Given the description of an element on the screen output the (x, y) to click on. 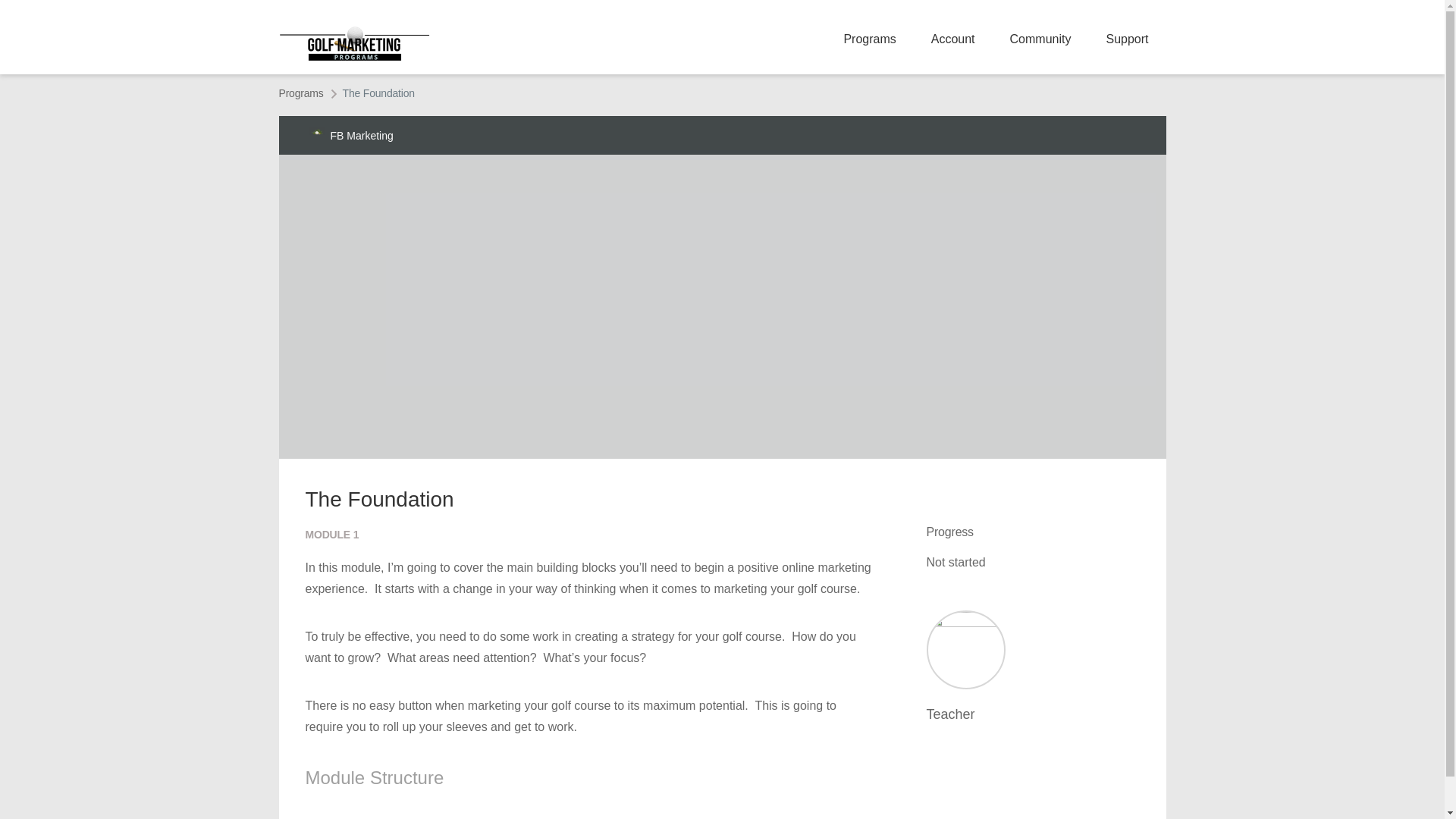
Programs (301, 92)
Account (953, 38)
Community (1040, 38)
Programs (869, 38)
Support (1126, 38)
The Foundation (378, 92)
Programs (301, 92)
